Given the description of an element on the screen output the (x, y) to click on. 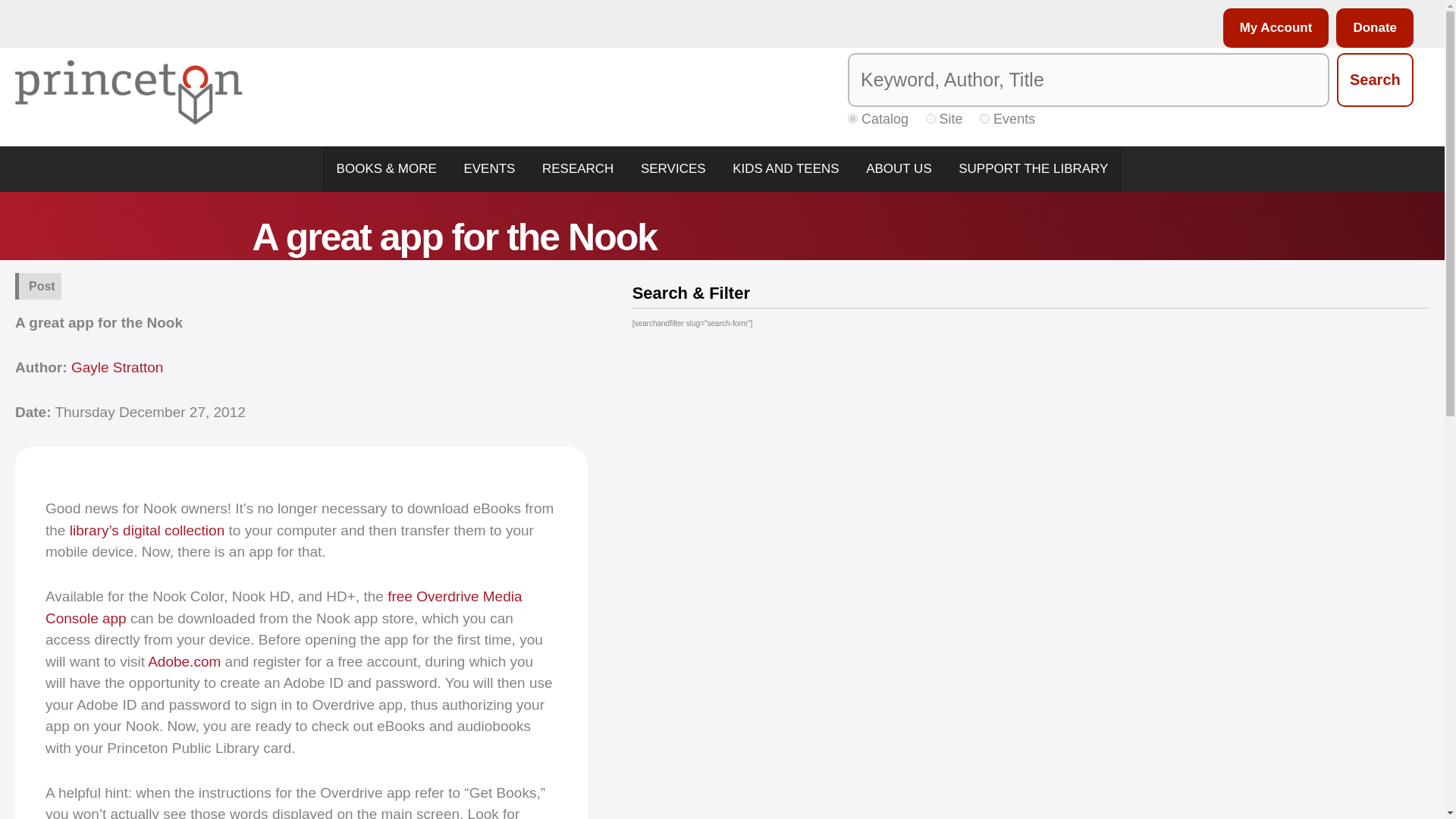
Donate (1371, 27)
Search (1374, 80)
Posts by Gayle Stratton (117, 367)
events (984, 118)
Adobe.com (184, 661)
free Overdrive Media Console app (283, 607)
Search (1374, 80)
SUPPORT THE LIBRARY (1032, 168)
EVENTS (489, 168)
SERVICES (673, 168)
RESEARCH (577, 168)
Search (1374, 80)
My Account (1272, 27)
ABOUT US (897, 168)
Post (42, 286)
